Given the description of an element on the screen output the (x, y) to click on. 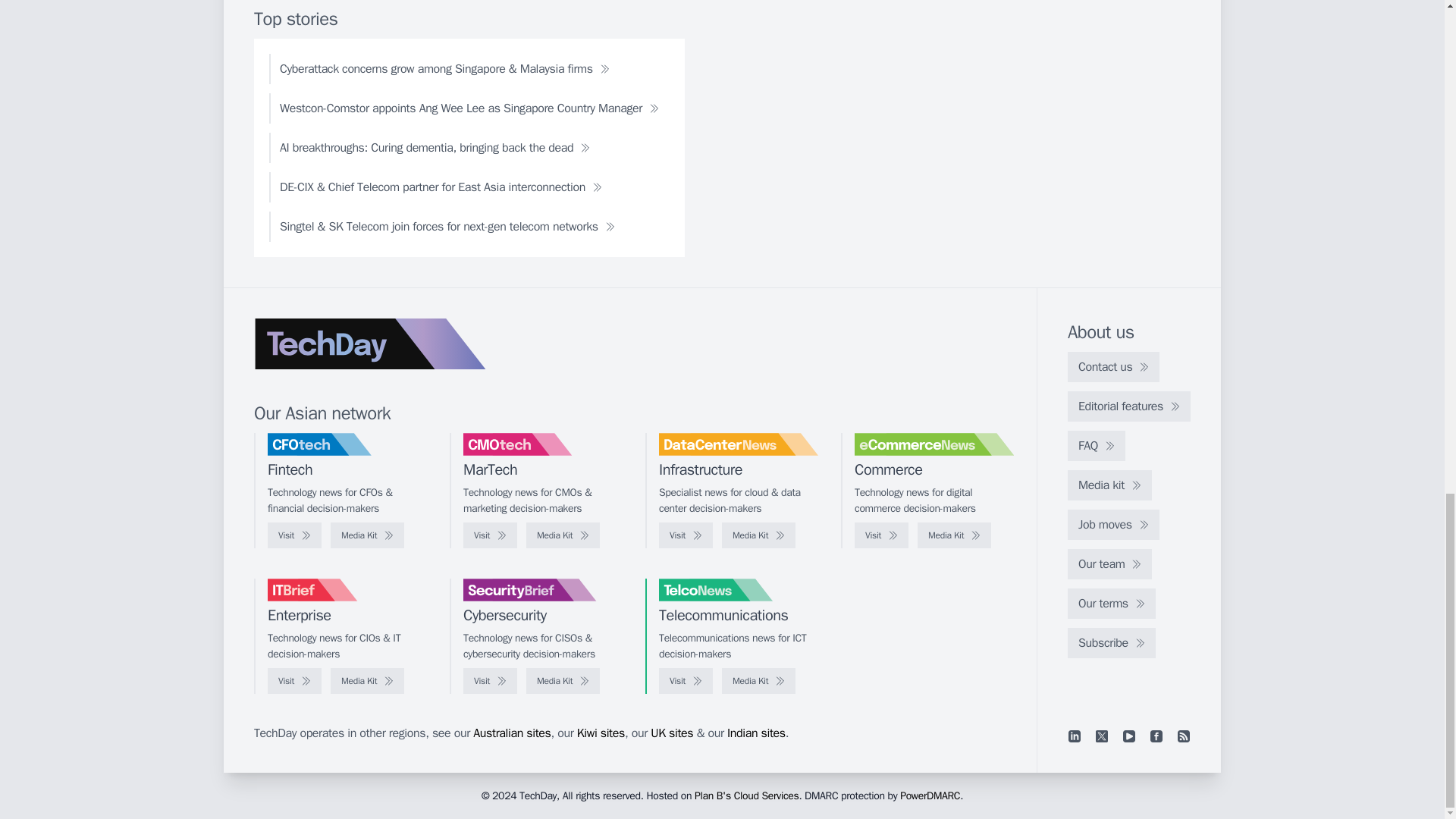
Visit (686, 534)
AI breakthroughs: Curing dementia, bringing back the dead (434, 147)
Visit (489, 534)
Media Kit (367, 534)
Visit (881, 534)
Media Kit (954, 534)
Media Kit (758, 534)
Media Kit (562, 534)
Visit (294, 534)
